Given the description of an element on the screen output the (x, y) to click on. 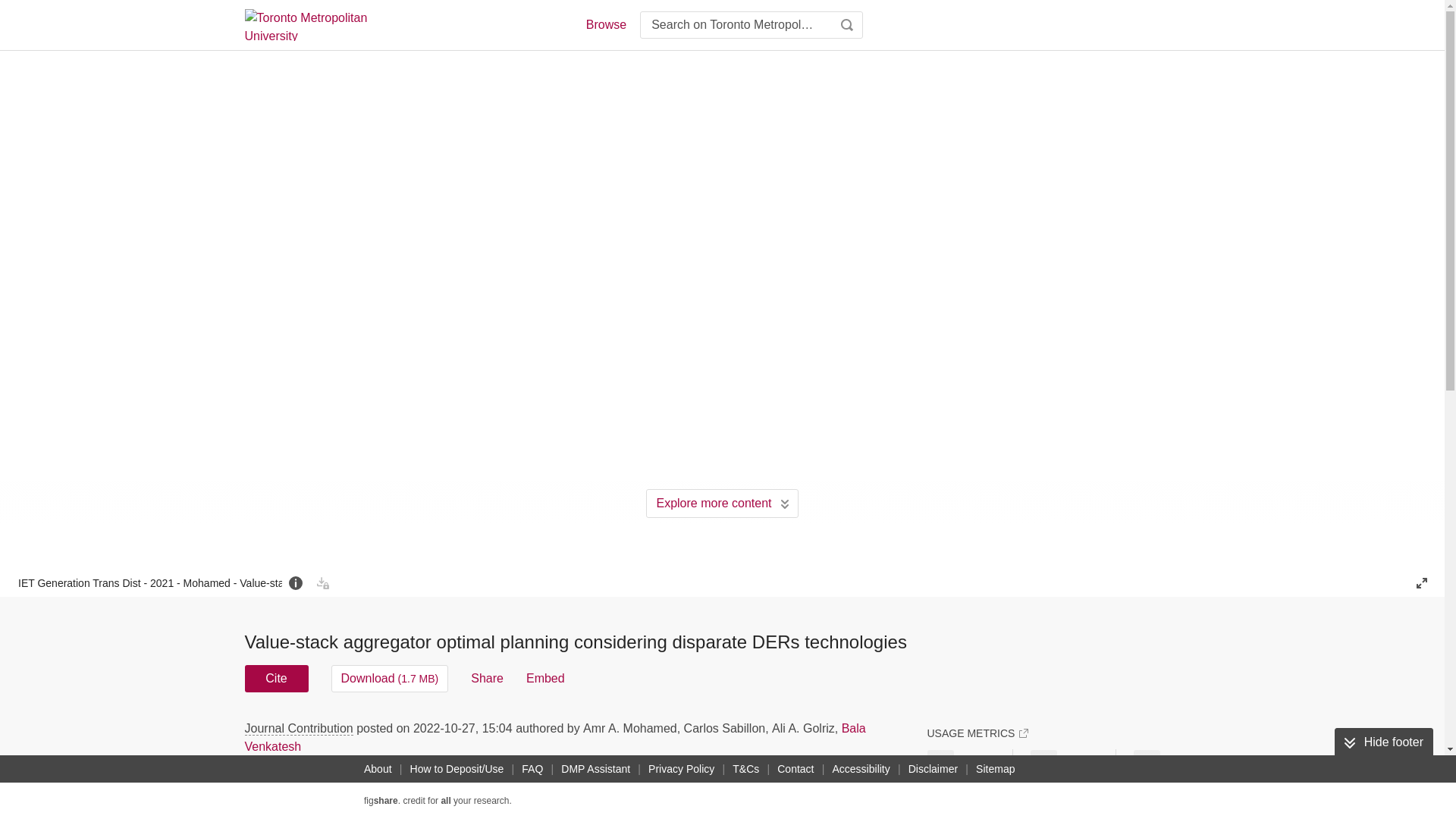
Cite (275, 678)
Privacy Policy (681, 769)
Embed (544, 678)
FAQ (531, 769)
About (377, 769)
Bala Venkatesh (554, 736)
Hide footer (1383, 742)
Browse (605, 24)
Explore more content (721, 502)
Share (486, 678)
DMP Assistant (595, 769)
USAGE METRICS (976, 732)
